Given the description of an element on the screen output the (x, y) to click on. 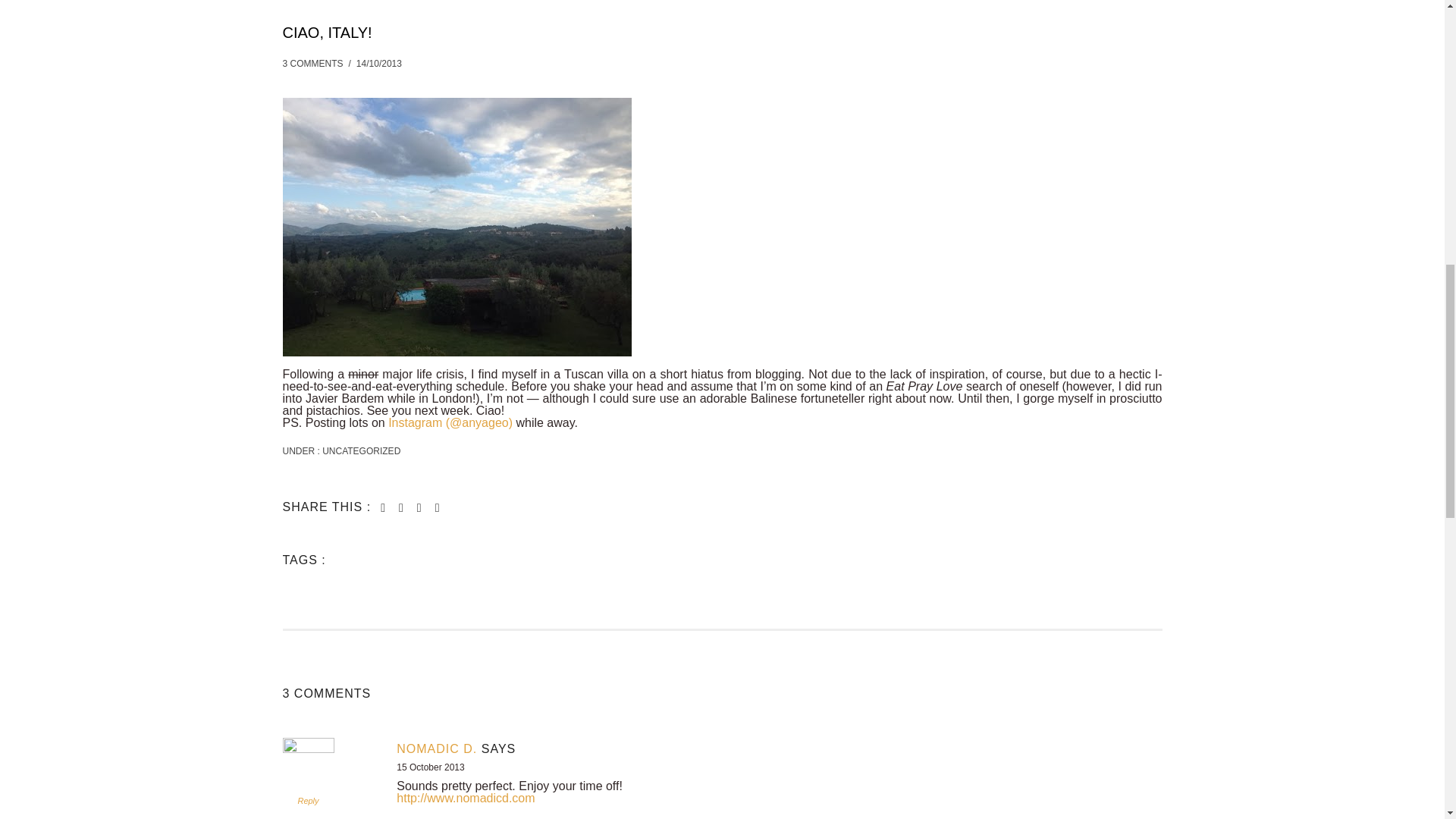
UNCATEGORIZED (360, 450)
View all posts in Uncategorized (360, 450)
3 COMMENTS (312, 63)
Reply (307, 800)
NOMADIC D. (436, 748)
CIAO, ITALY! (326, 32)
